Given the description of an element on the screen output the (x, y) to click on. 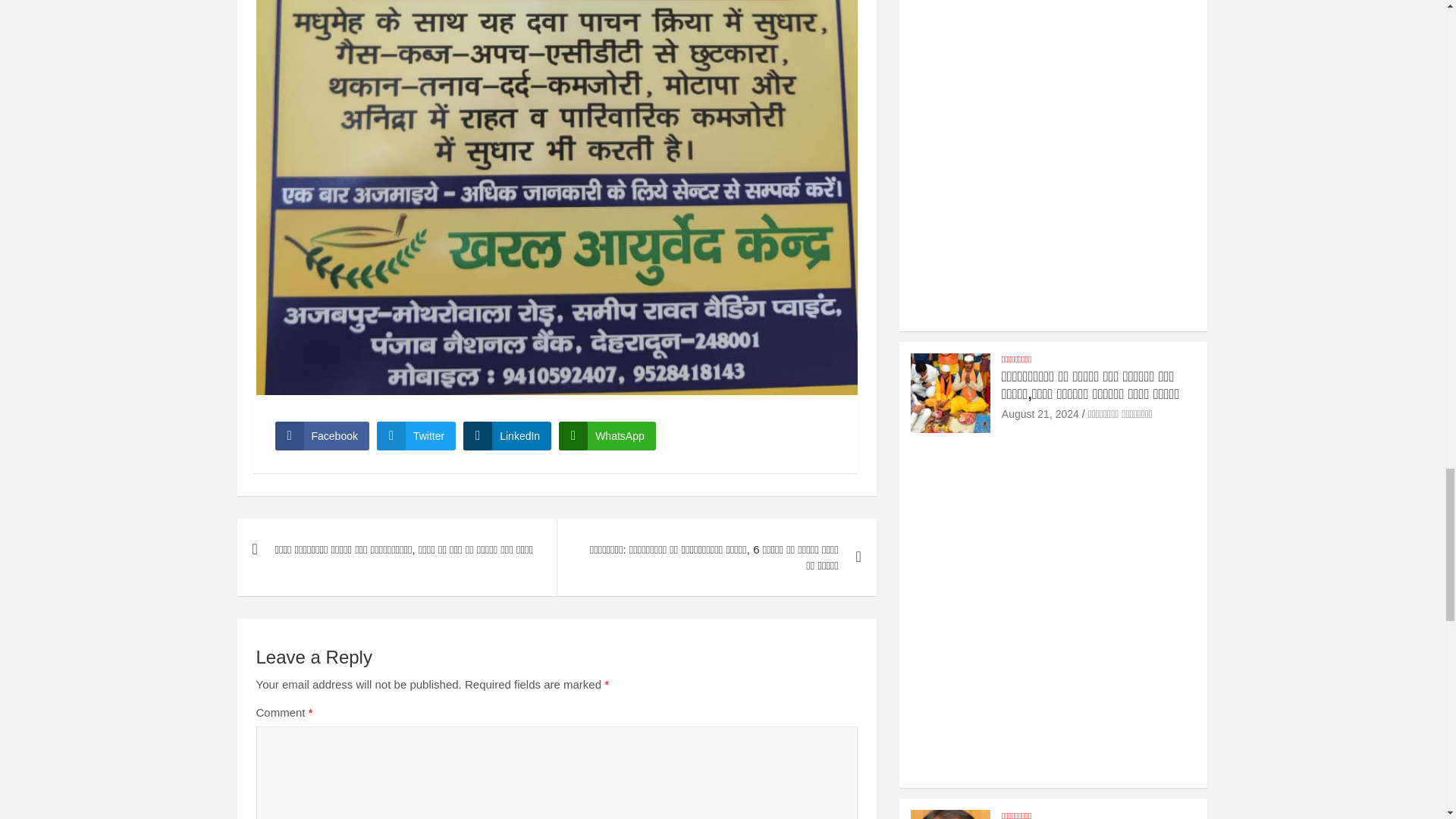
WhatsApp (607, 435)
Facebook (321, 435)
LinkedIn (507, 435)
Twitter (416, 435)
